Given the description of an element on the screen output the (x, y) to click on. 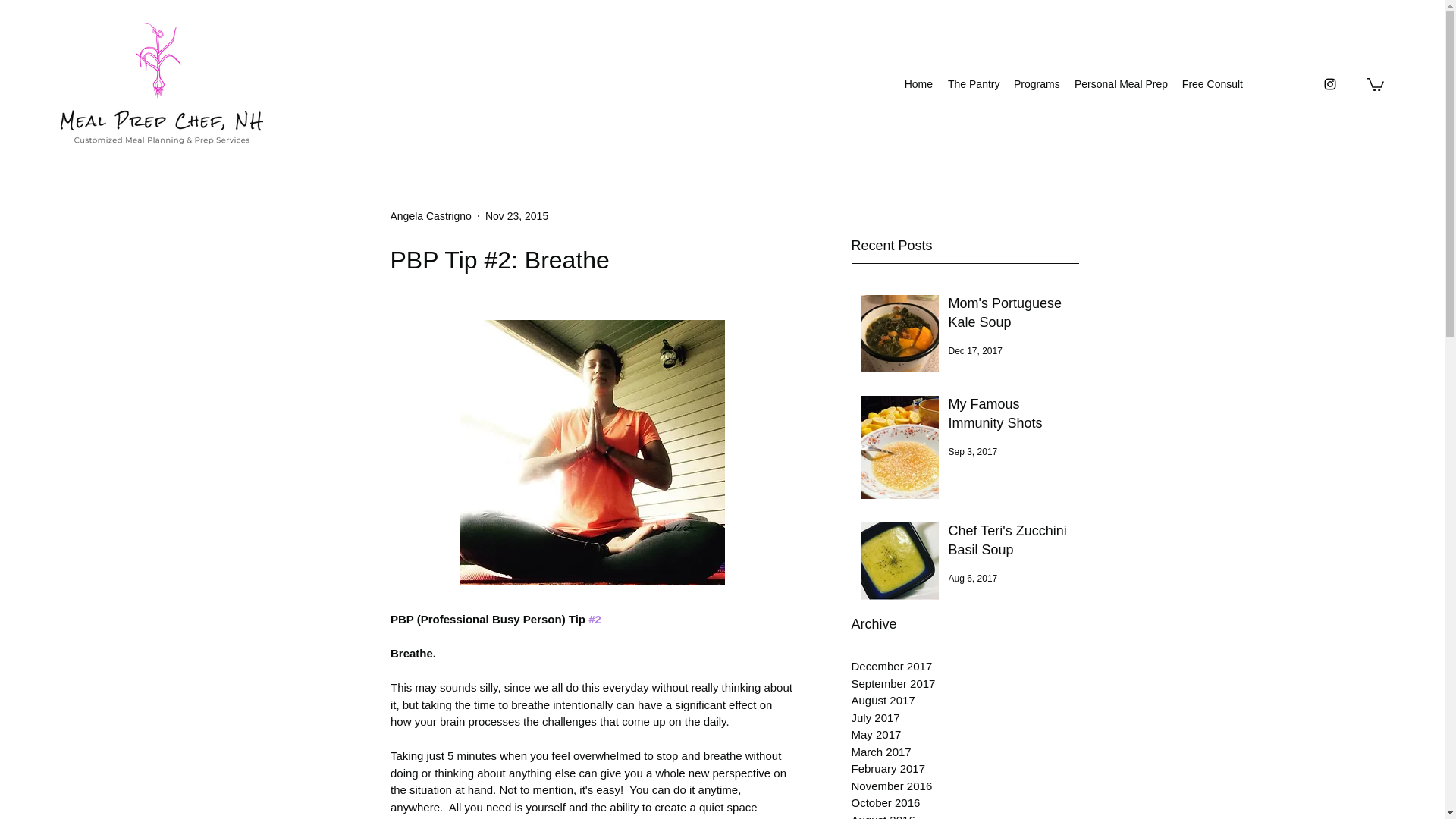
August 2016 (964, 815)
March 2017 (964, 751)
July 2017 (964, 718)
Mom's Portuguese Kale Soup (1007, 316)
Free Consult (1211, 83)
Chef Teri's Zucchini Basil Soup (1007, 543)
Home (918, 83)
Dec 17, 2017 (974, 350)
My Famous Immunity Shots (1007, 416)
Programs (1036, 83)
February 2017 (964, 769)
Aug 6, 2017 (972, 578)
December 2017 (964, 666)
Nov 23, 2015 (516, 215)
Angela Castrigno (430, 215)
